Given the description of an element on the screen output the (x, y) to click on. 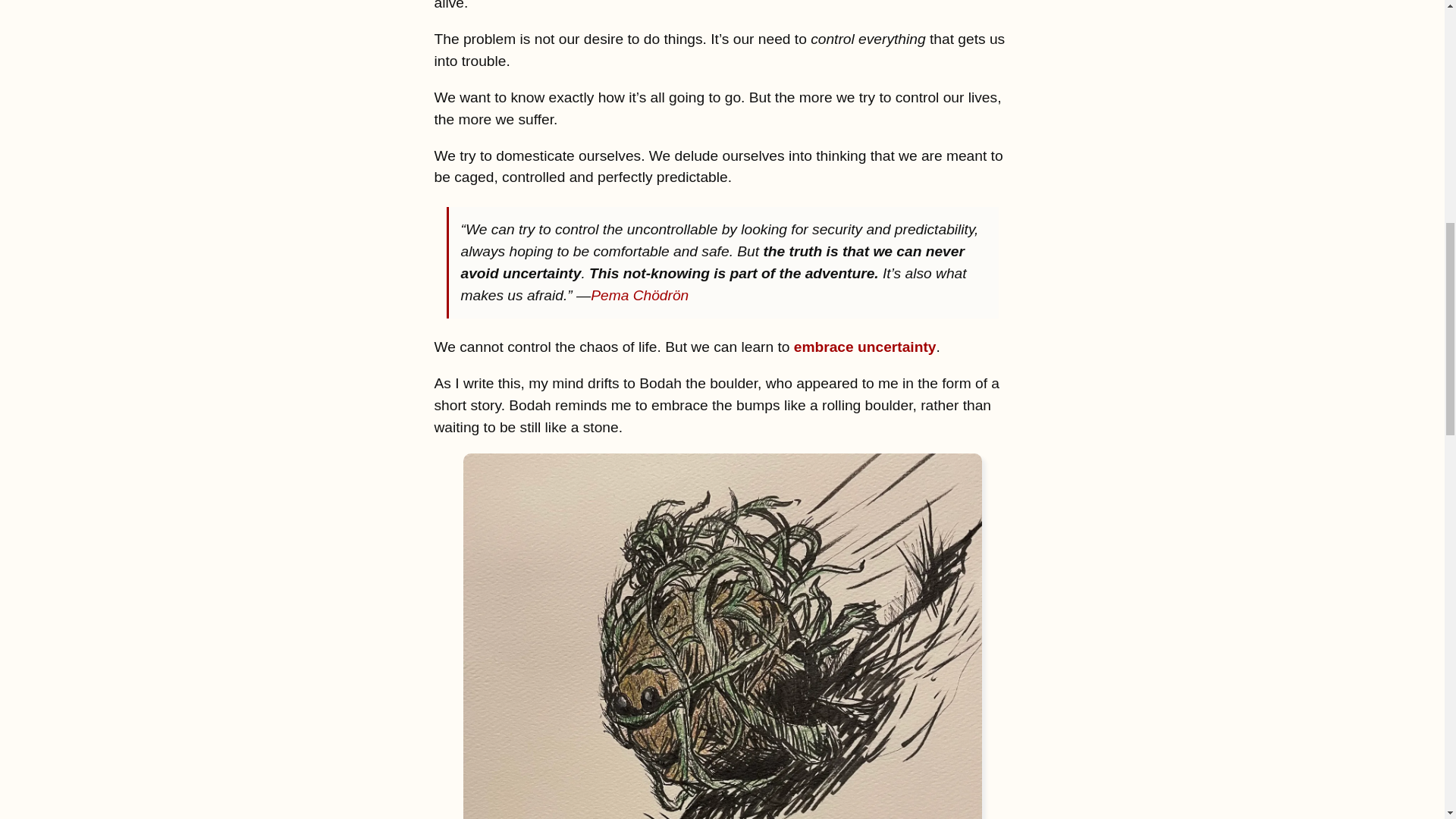
embrace uncertainty (864, 346)
